Given the description of an element on the screen output the (x, y) to click on. 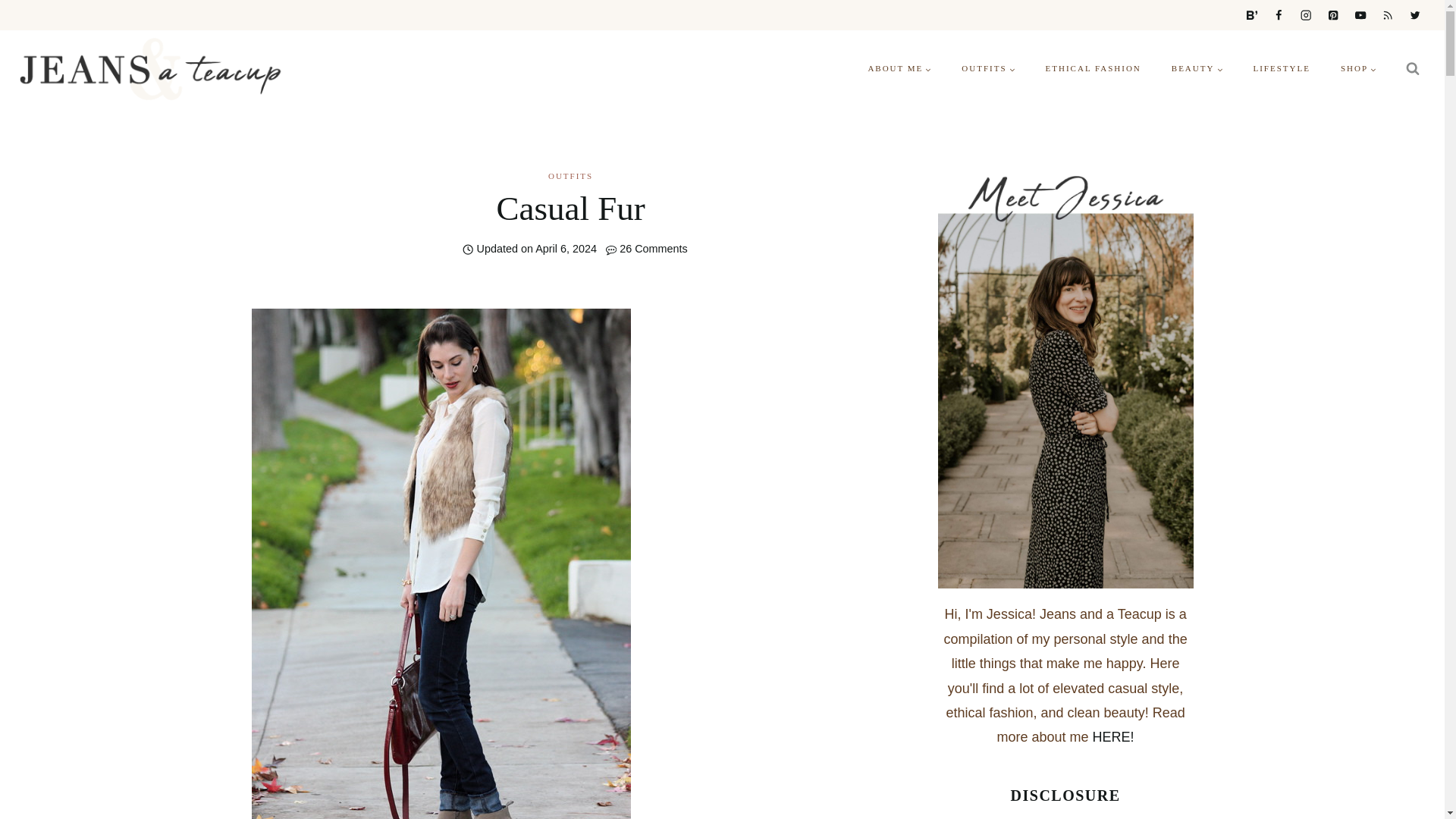
BEAUTY (1197, 69)
26 Comments (653, 249)
LIFESTYLE (1280, 69)
26 Comments (653, 249)
ETHICAL FASHION (1093, 69)
OUTFITS (570, 175)
ABOUT ME (898, 69)
OUTFITS (987, 69)
